Given the description of an element on the screen output the (x, y) to click on. 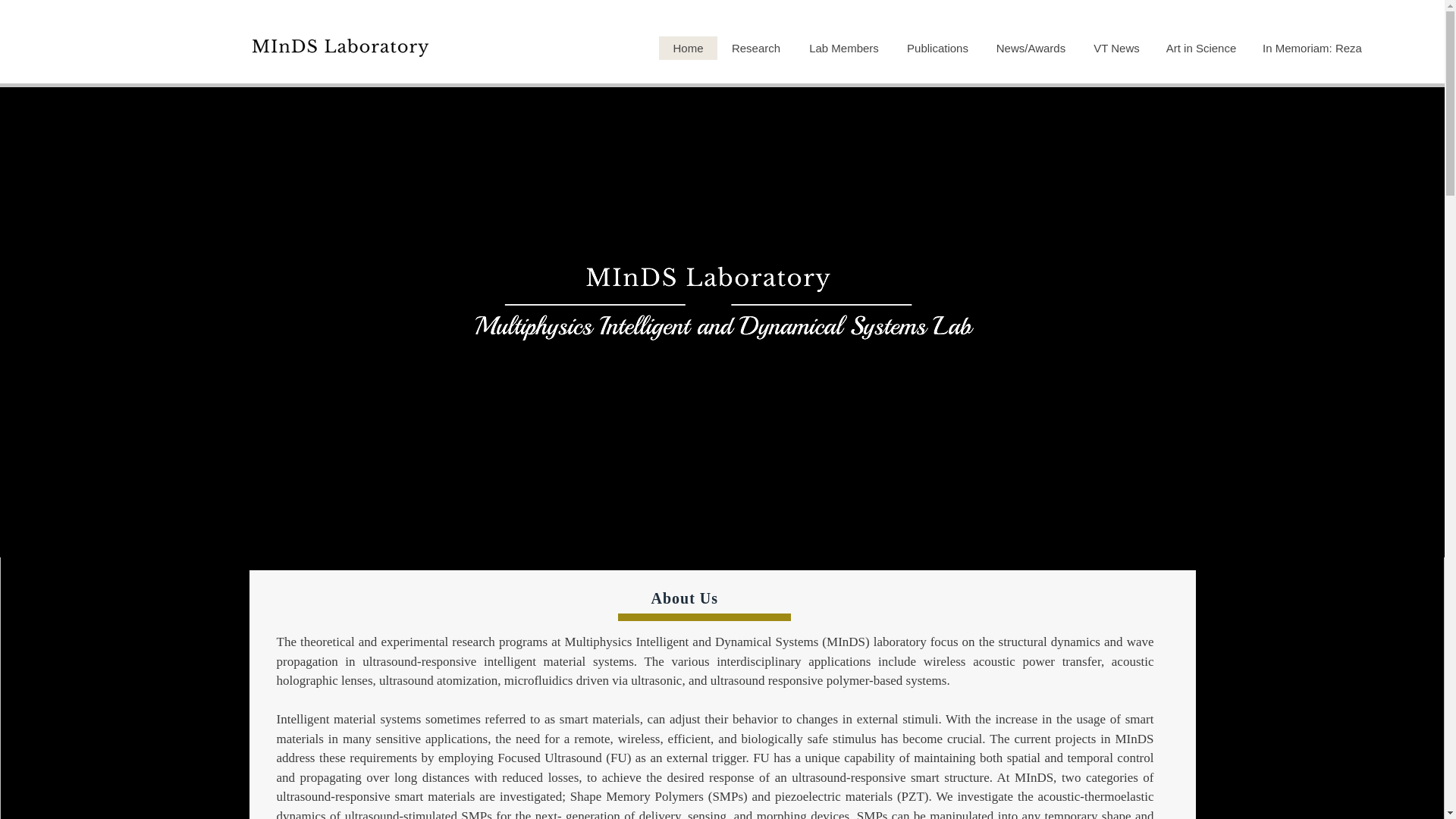
VT News (1116, 47)
Home (688, 47)
Research (755, 47)
Lab Members (843, 47)
Publications (937, 47)
Art in Science (1201, 47)
In Memoriam: Reza (1311, 47)
